Given the description of an element on the screen output the (x, y) to click on. 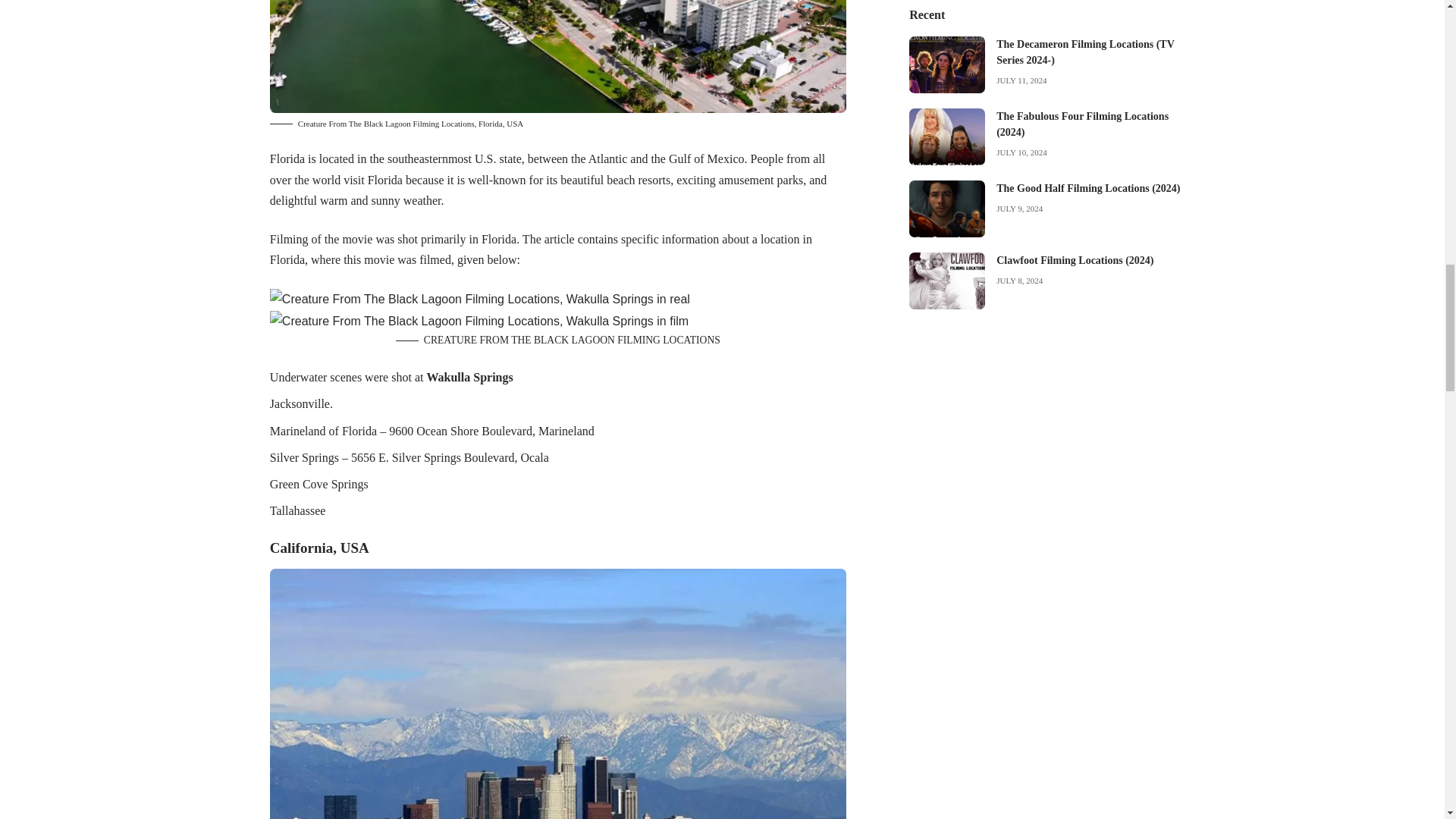
Creature From The Black Lagoon Filming Locations 4 (478, 321)
Creature From The Black Lagoon Filming Locations 3 (479, 299)
Creature From The Black Lagoon Filming Locations 2 (557, 56)
